Given the description of an element on the screen output the (x, y) to click on. 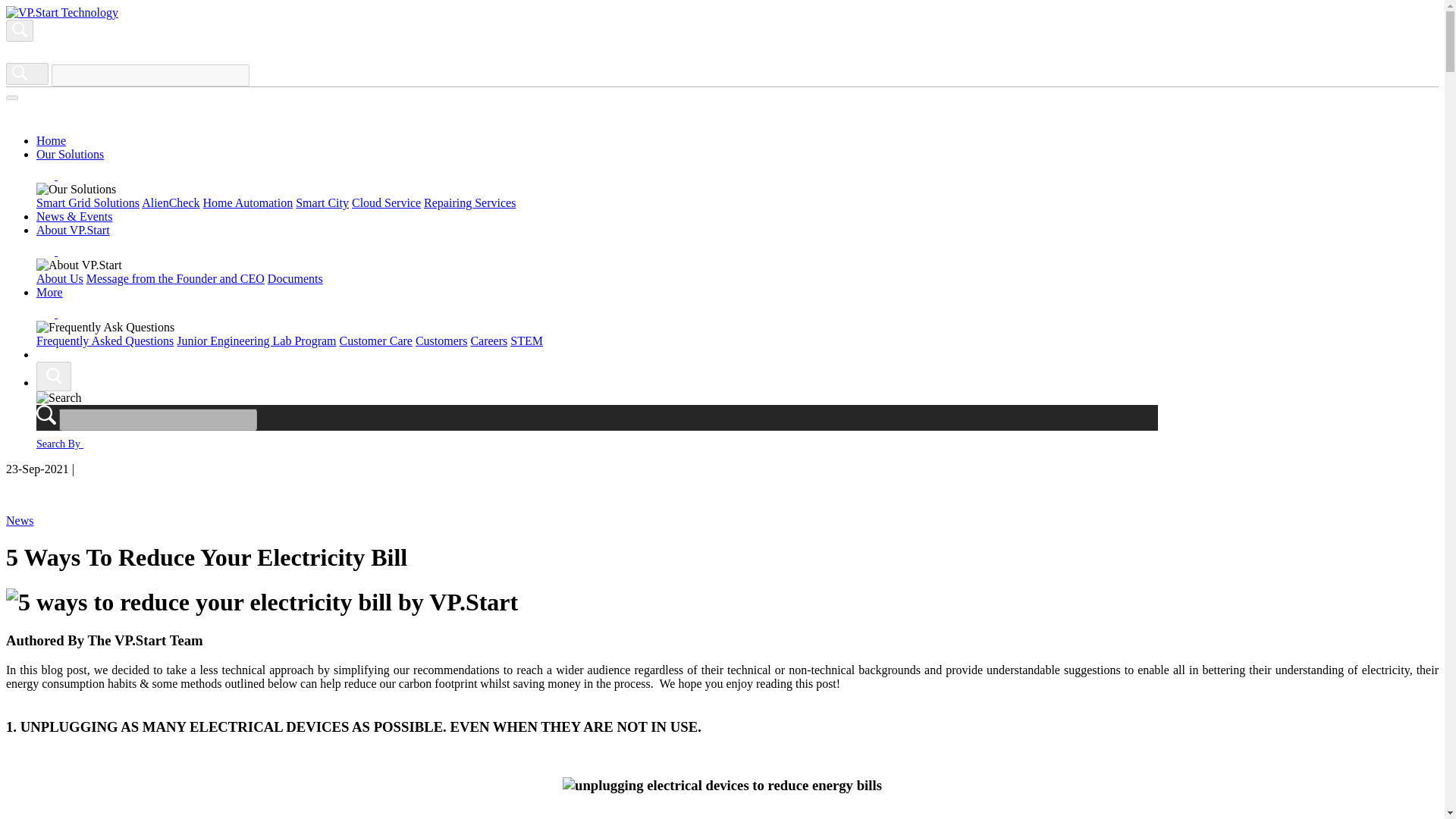
Frequently Asked Questions (104, 340)
Cloud Service (386, 202)
Customer Care (375, 340)
Smart Grid Solutions (87, 202)
Careers (488, 340)
STEM (527, 340)
AlienCheck (170, 202)
Junior Engineering Lab Program (256, 340)
Message from the Founder and CEO (174, 278)
Home (50, 140)
About Us (59, 278)
Home Automation (248, 202)
Smart City (322, 202)
Repairing Services (469, 202)
Documents (295, 278)
